Given the description of an element on the screen output the (x, y) to click on. 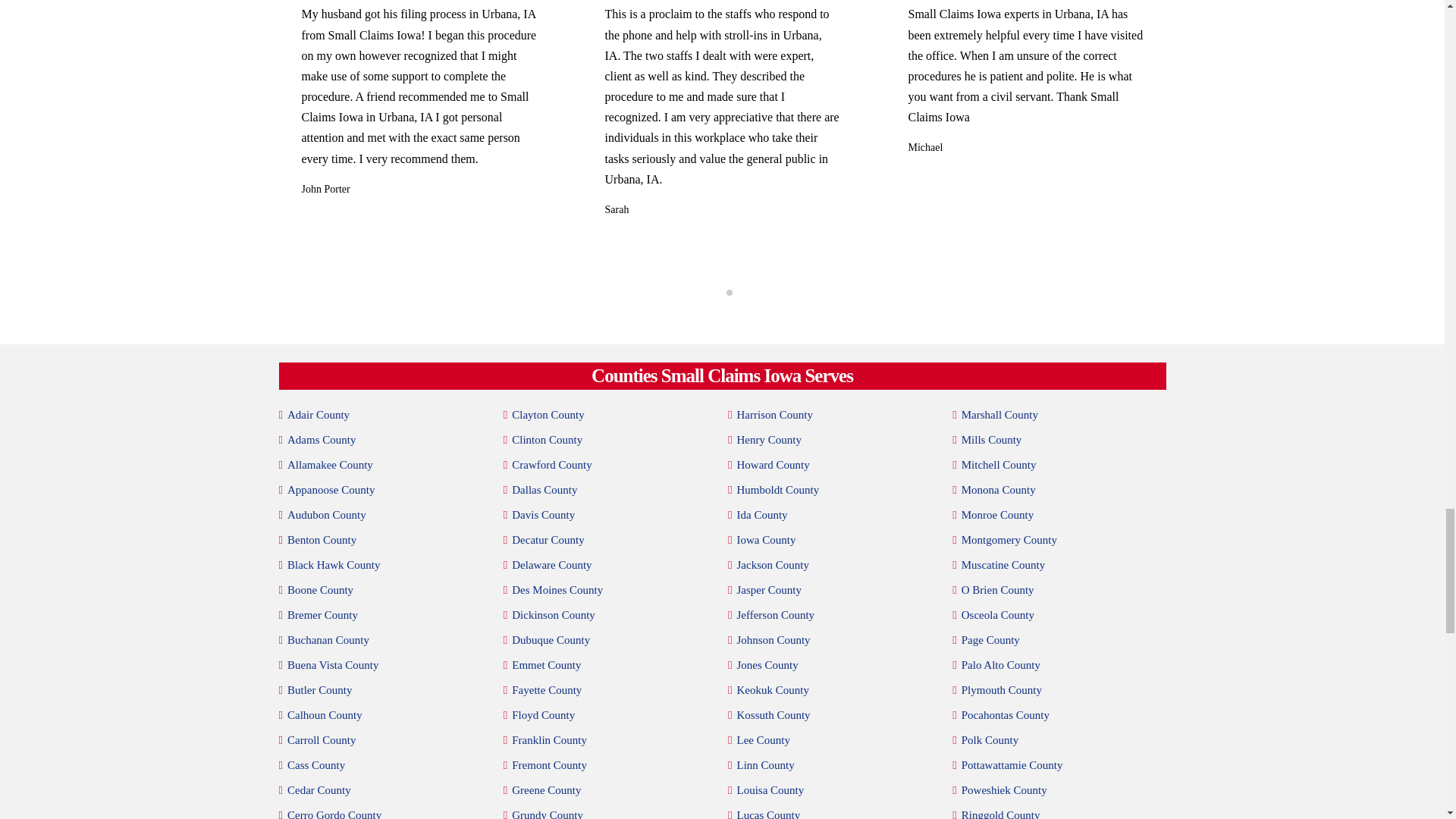
Black Hawk County (333, 565)
Carroll County (320, 740)
Appanoose County (330, 489)
Allamakee County (329, 465)
Butler County (319, 690)
Boone County (319, 589)
Bremer County (322, 615)
Adair County (317, 414)
Benton County (321, 539)
Clayton County (547, 414)
Cedar County (318, 790)
Crawford County (551, 465)
Clinton County (547, 439)
Calhoun County (324, 715)
Audubon County (326, 515)
